Given the description of an element on the screen output the (x, y) to click on. 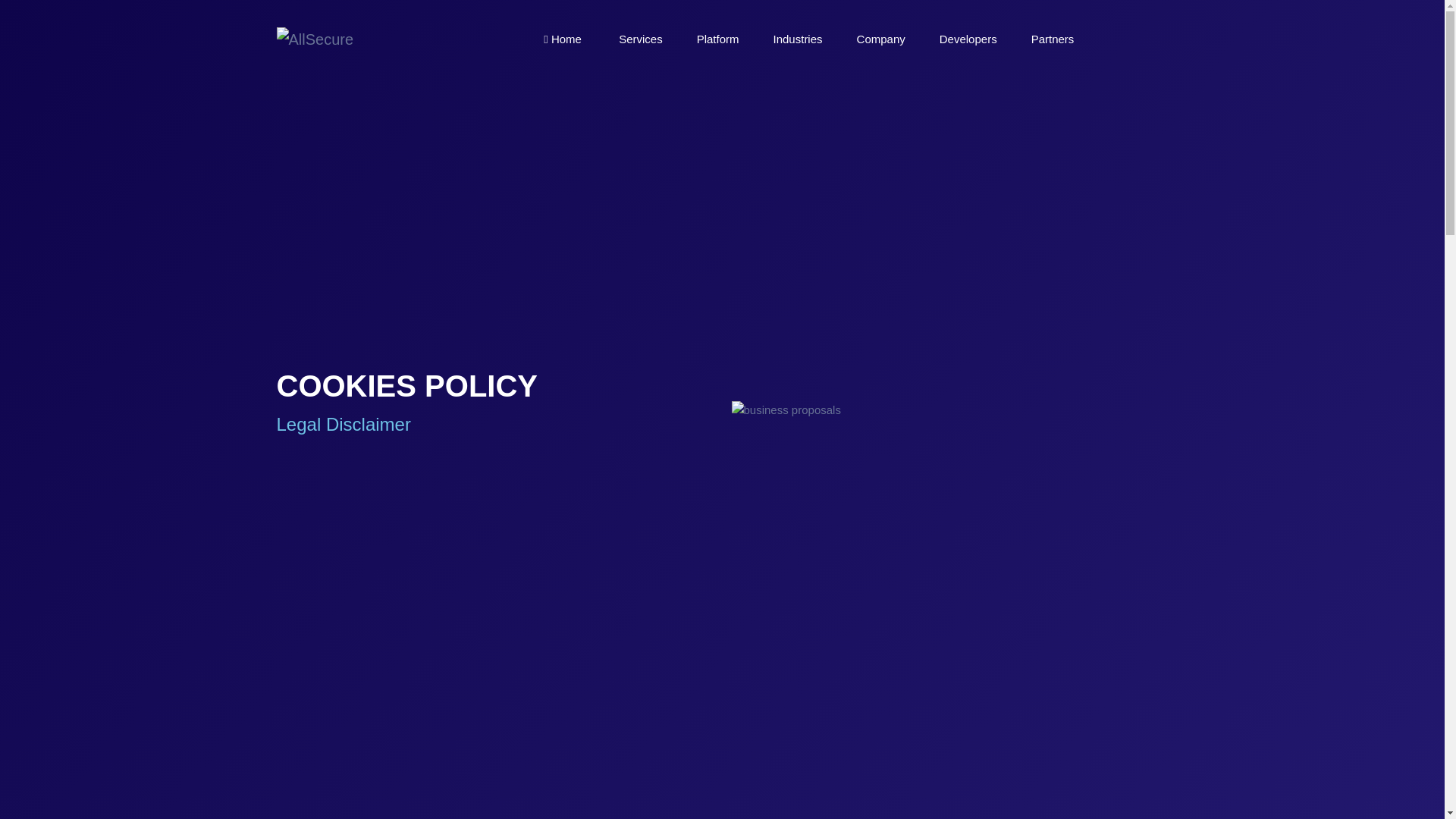
Developers (968, 38)
Services (640, 38)
Platform (718, 38)
Platform (718, 38)
Company (881, 38)
 Home (564, 38)
Industries (797, 38)
Industries (797, 38)
Company (881, 38)
Partners  (1053, 38)
